Given the description of an element on the screen output the (x, y) to click on. 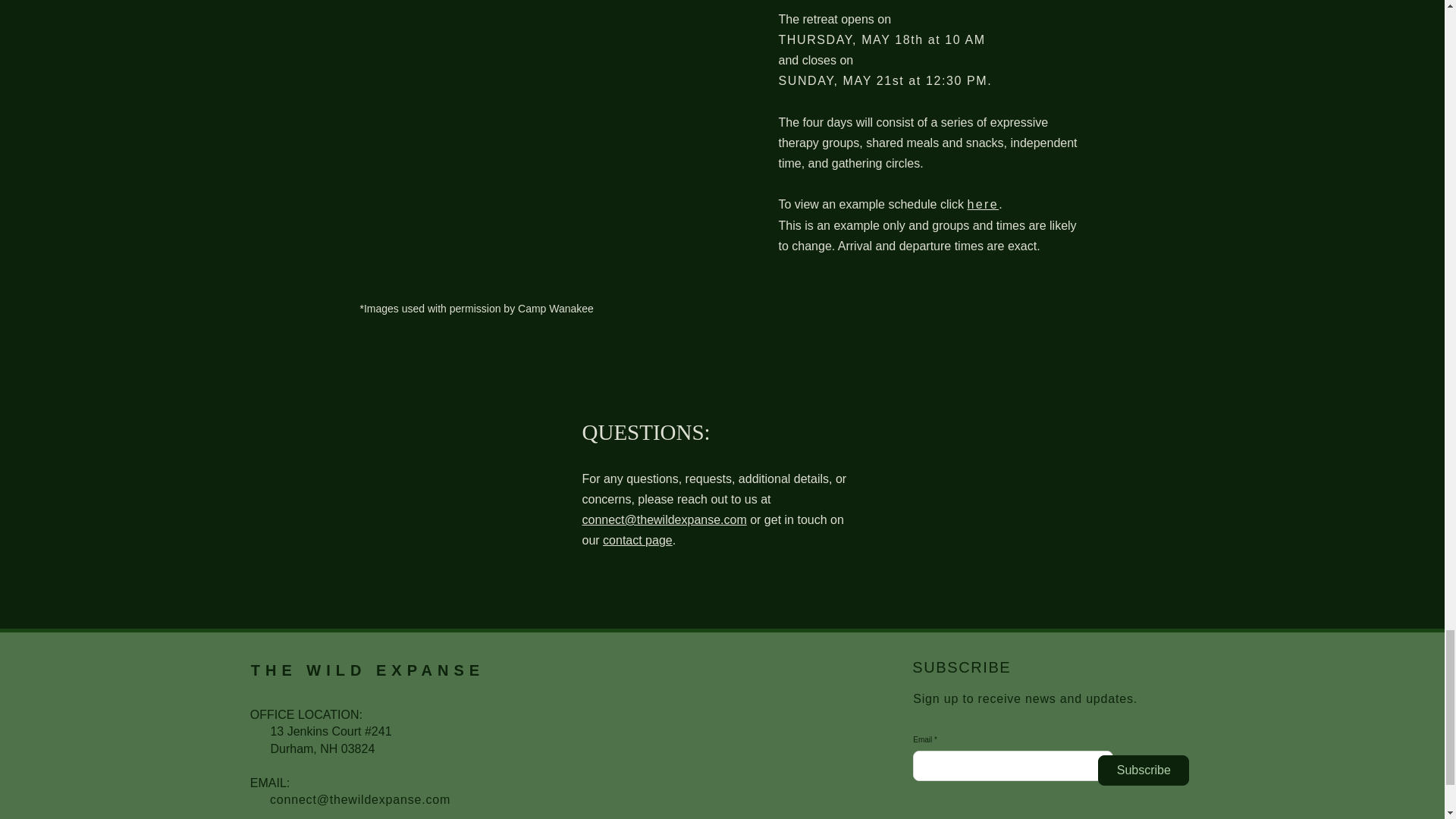
here (983, 204)
THE WILD EXPANSE (367, 669)
Subscribe (1143, 770)
contact page (637, 540)
